Given the description of an element on the screen output the (x, y) to click on. 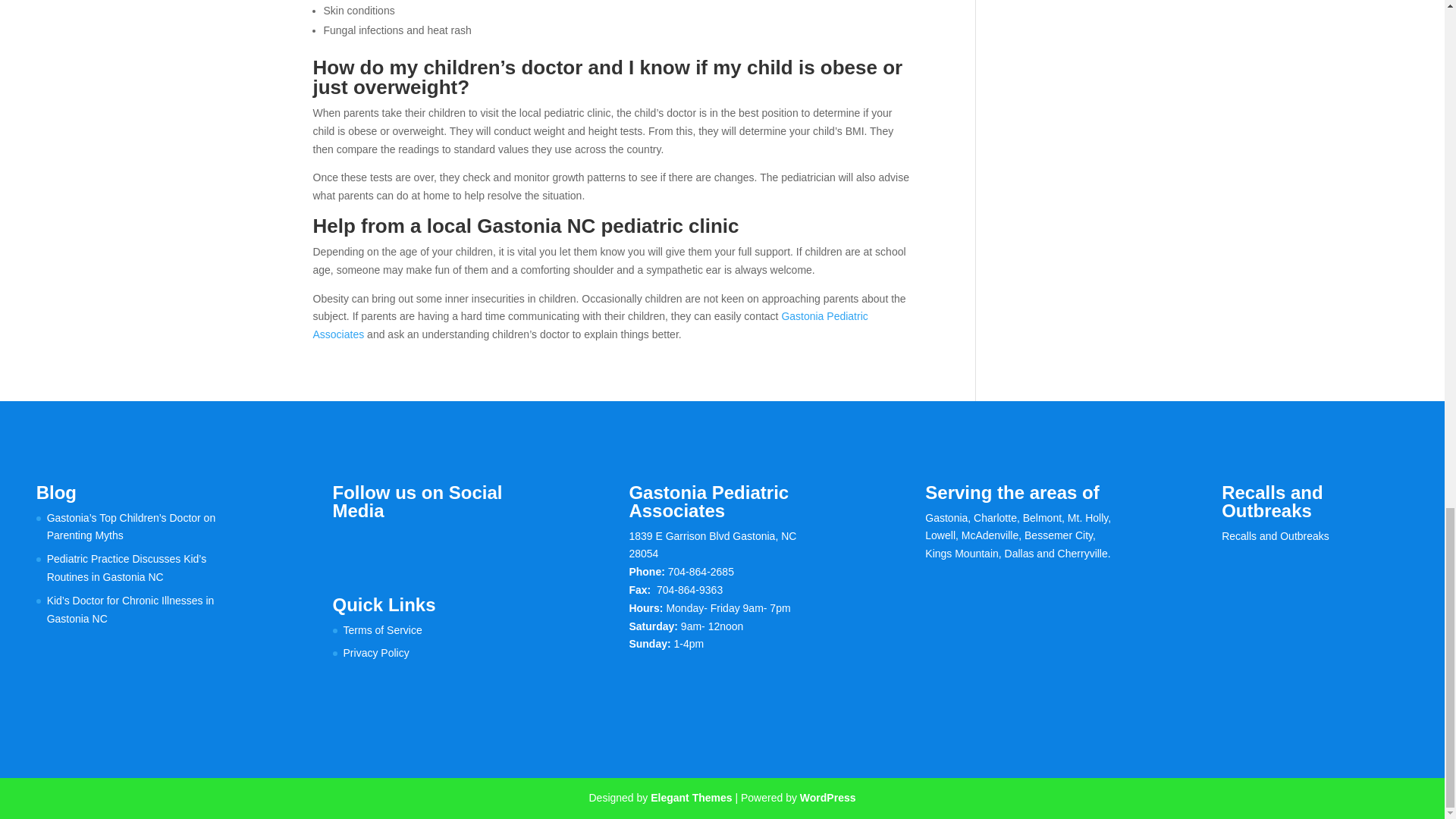
Elegant Themes (691, 797)
WordPress (827, 797)
Terms of Service (382, 630)
Premium WordPress Themes (691, 797)
Follow Us on Instagram (408, 543)
Recalls and Outbreaks (1275, 535)
Privacy Policy (376, 653)
Gastonia Pediatric Associates (590, 325)
Follow Us on Twitter (376, 543)
Follow Us on Facebook (344, 543)
